Given the description of an element on the screen output the (x, y) to click on. 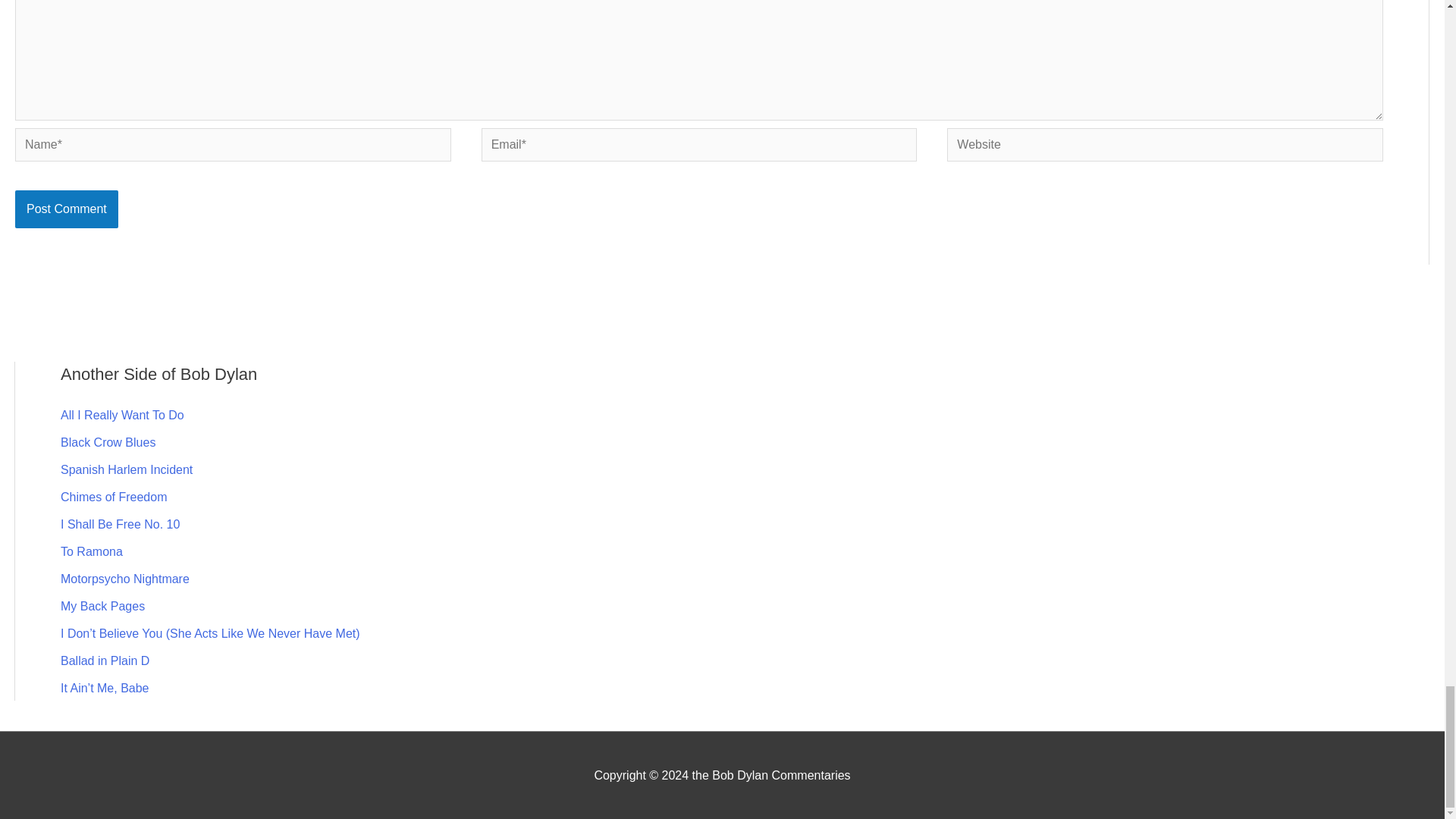
Spanish Harlem Incident (126, 469)
I Shall Be Free No. 10 (120, 523)
Black Crow Blues (108, 441)
Ballad in Plain D (105, 660)
Post Comment (65, 209)
Chimes of Freedom (114, 496)
Post Comment (65, 209)
My Back Pages (102, 605)
All I Really Want To Do (122, 414)
To Ramona (91, 551)
